Given the description of an element on the screen output the (x, y) to click on. 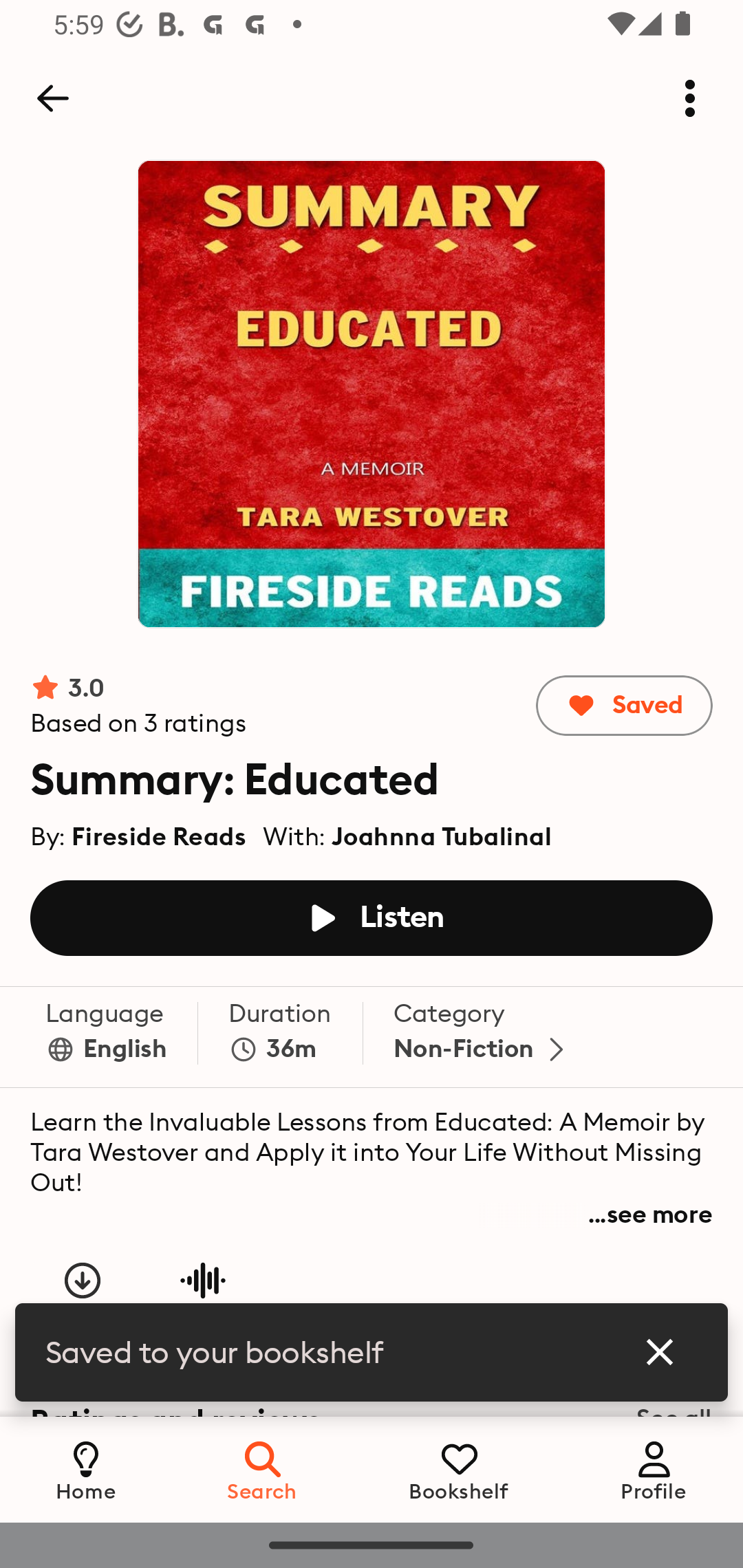
Back (52, 98)
More options (689, 98)
Rating 3.0 stars, out of 3 ratings (138, 705)
Saved Remove from bookshelf (623, 705)
By: Fireside Reads (138, 832)
With: Joahnna Tubalinal (407, 832)
Listen Listen to book (371, 917)
Category Non-Fiction (482, 1036)
Download book (82, 1294)
Play sample (202, 1294)
Home (85, 1468)
Search (262, 1468)
Bookshelf (458, 1468)
Profile (653, 1468)
